Given the description of an element on the screen output the (x, y) to click on. 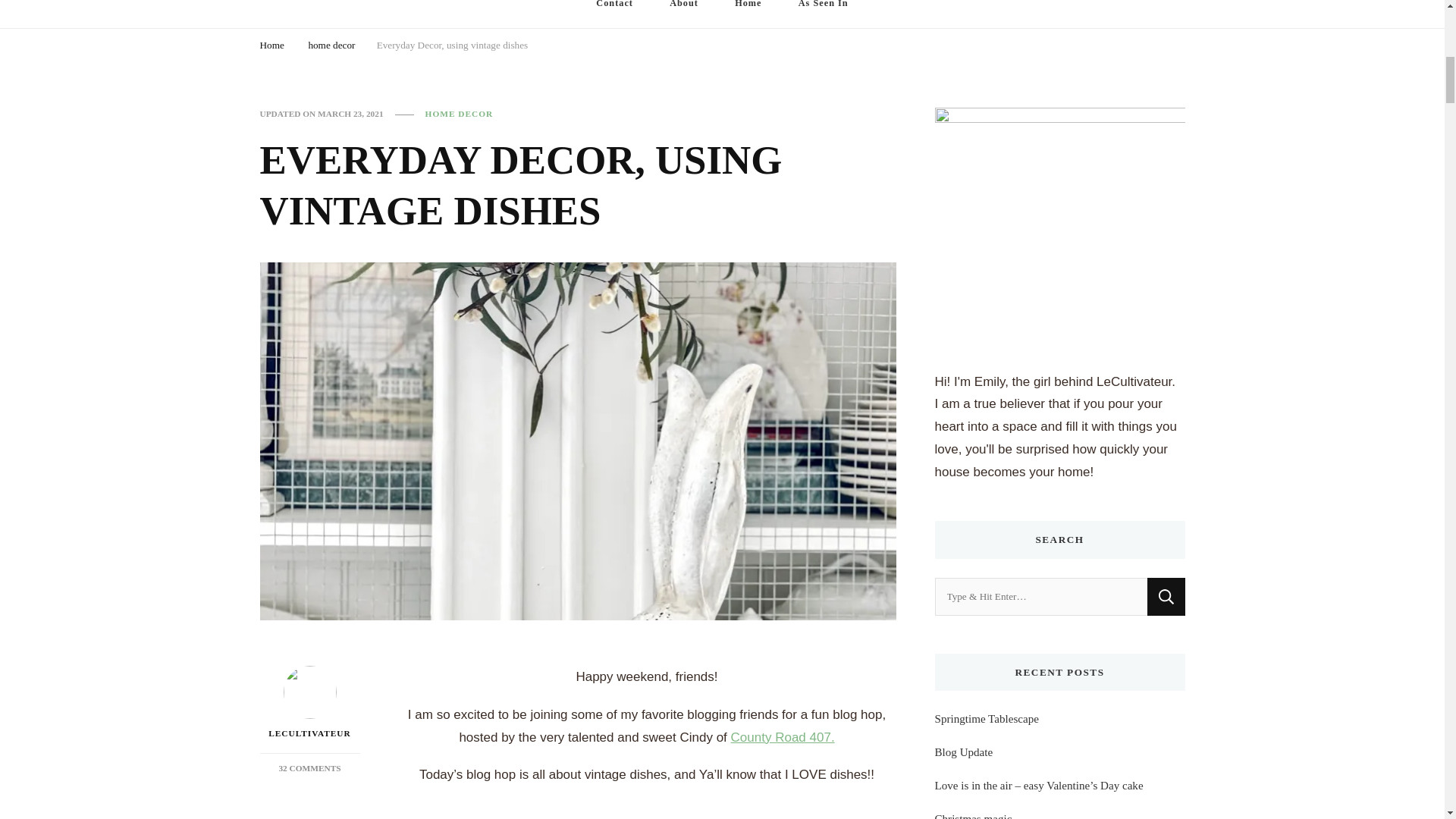
Search (1166, 596)
Everyday Decor, using vintage dishes (309, 768)
Search (452, 46)
As Seen In (1166, 596)
MARCH 23, 2021 (822, 13)
County Road 407. (350, 113)
home decor (782, 737)
LECULTIVATEUR (331, 46)
Contact (309, 703)
